Given the description of an element on the screen output the (x, y) to click on. 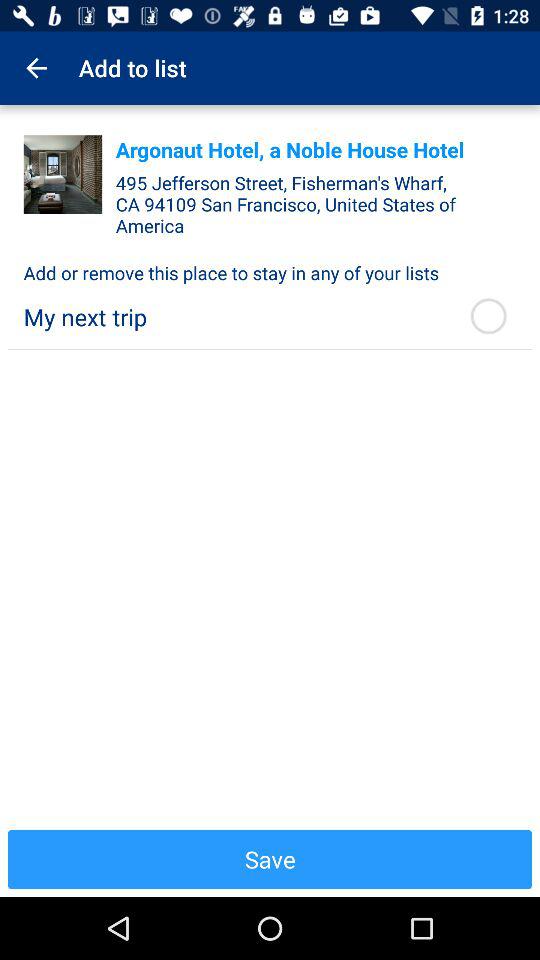
it indicates a living room of a particular house (62, 174)
